Given the description of an element on the screen output the (x, y) to click on. 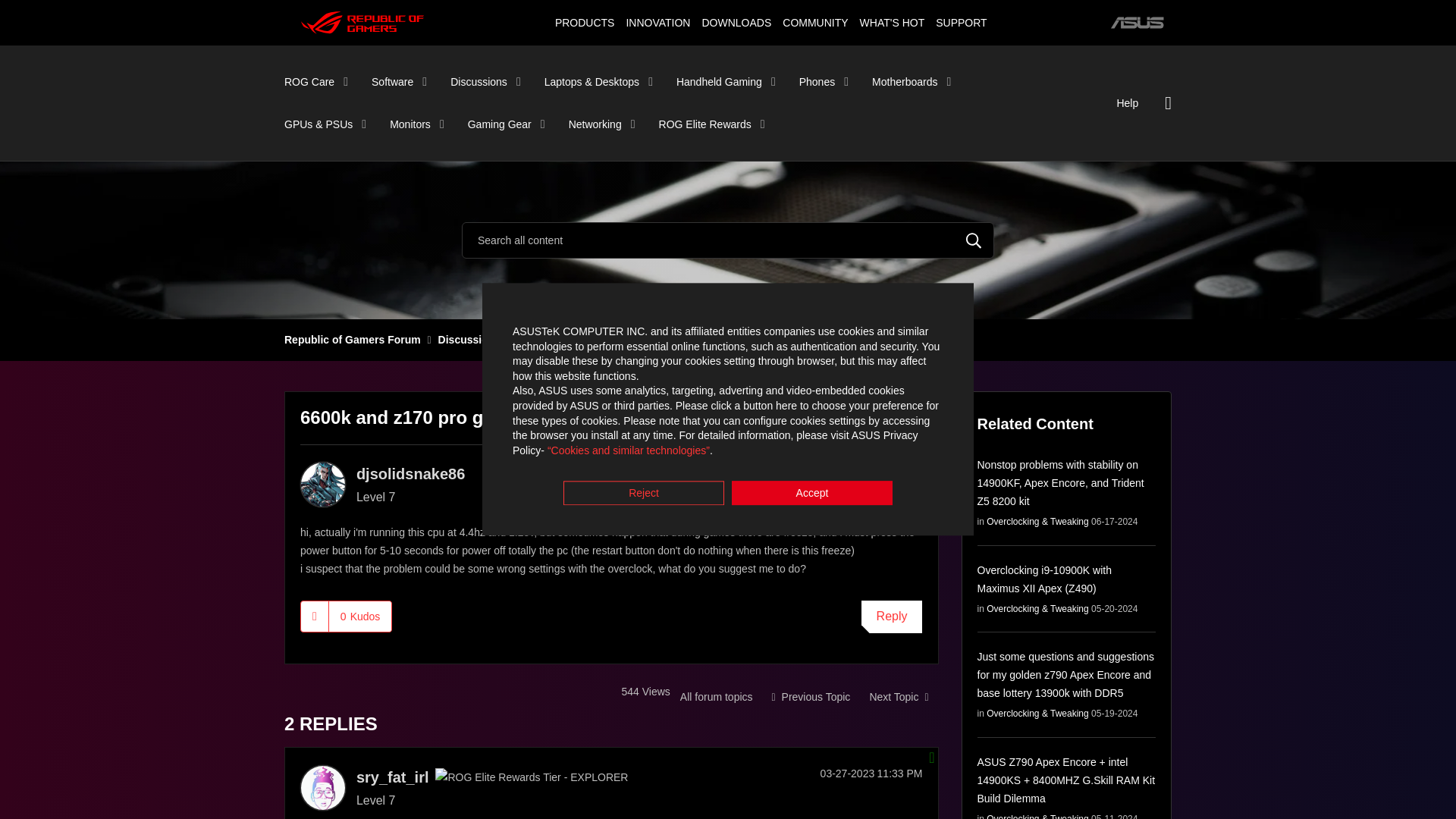
QFan in bios and changing the temperature sensor (898, 696)
DOWNLOADS (736, 22)
djsolidsnake86 (322, 483)
Search (973, 239)
Search (973, 239)
PRODUCTS (584, 22)
COMMUNITY (815, 22)
Search (727, 239)
INNOVATION (657, 22)
The total number of kudos this post has received. (360, 615)
